Given the description of an element on the screen output the (x, y) to click on. 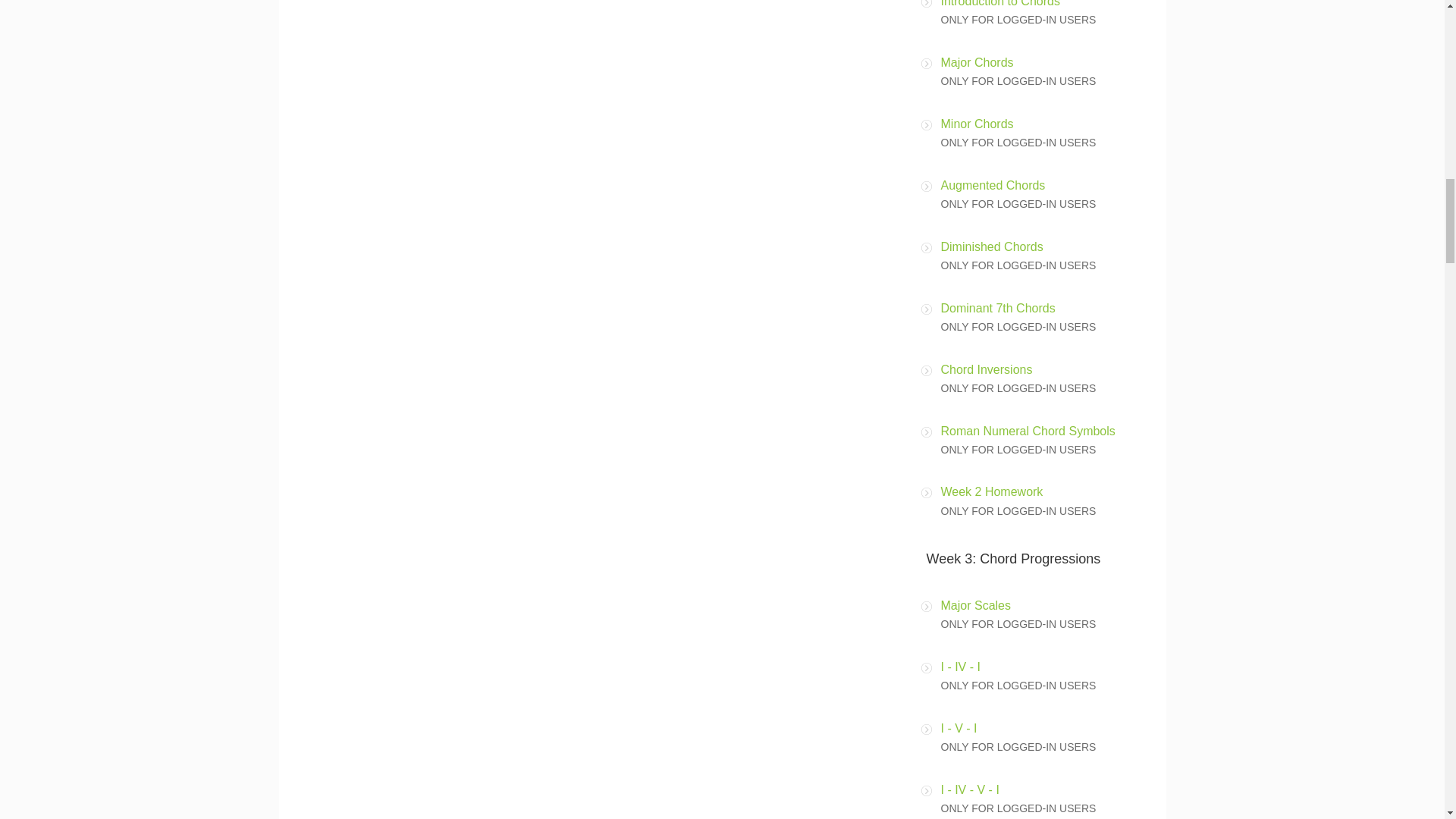
Diminished Chords (991, 246)
I - IV - I (959, 666)
Week 3: Chord Progressions (1013, 558)
Introduction to Chords (999, 3)
I - IV - V - I (969, 789)
I - V - I (958, 727)
Major Scales (975, 604)
Roman Numeral Chord Symbols (1027, 431)
Dominant 7th Chords (997, 308)
Chord Inversions (986, 369)
